Given the description of an element on the screen output the (x, y) to click on. 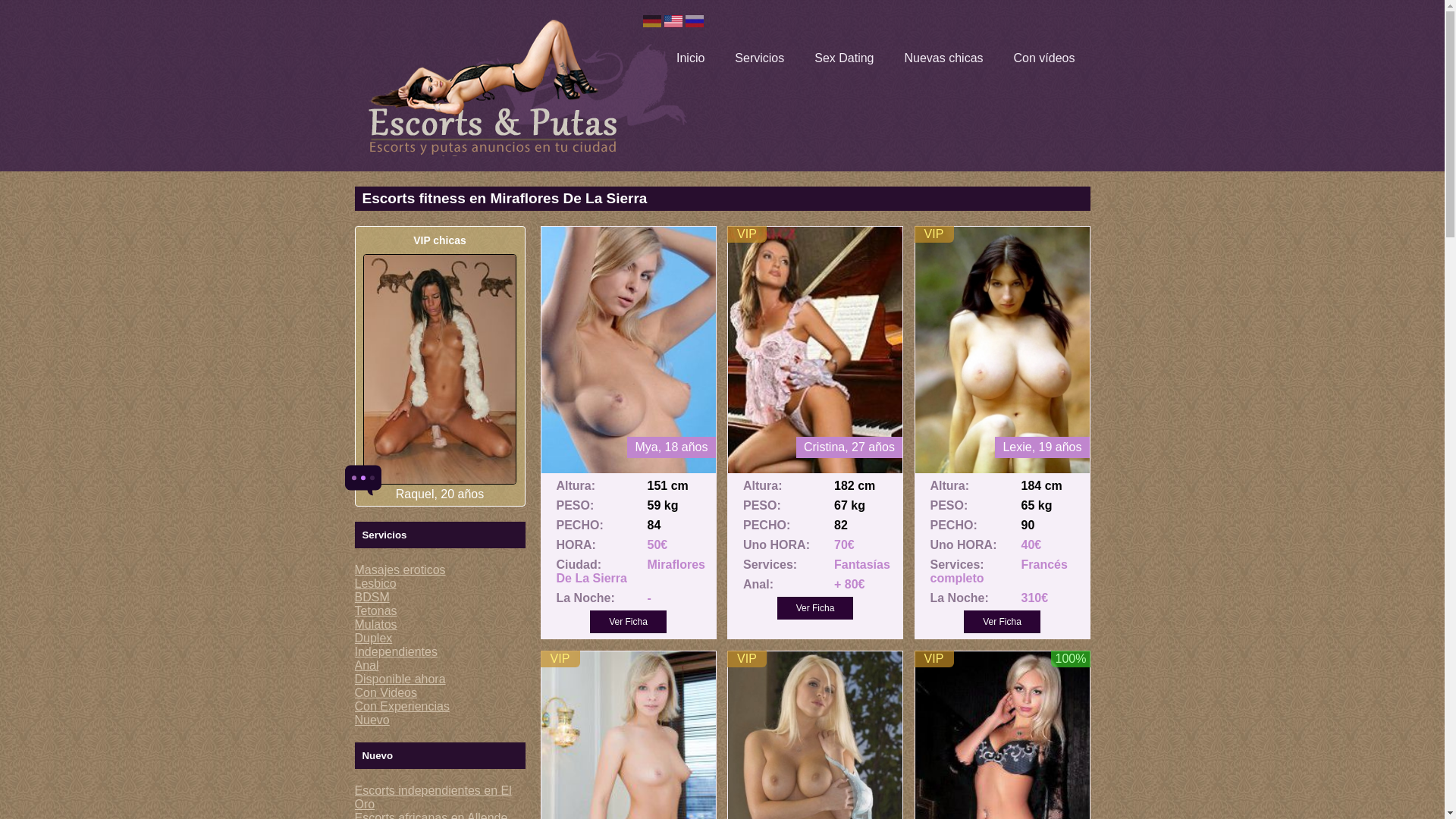
One of the best profiles (559, 658)
Ver Ficha (1002, 621)
Independientes (396, 651)
Mulatos (376, 624)
Inicio (690, 57)
Servicios (759, 57)
Sex Dating (843, 57)
Ver Ficha (627, 621)
Duplex (374, 637)
Disponible ahora (400, 678)
